Given the description of an element on the screen output the (x, y) to click on. 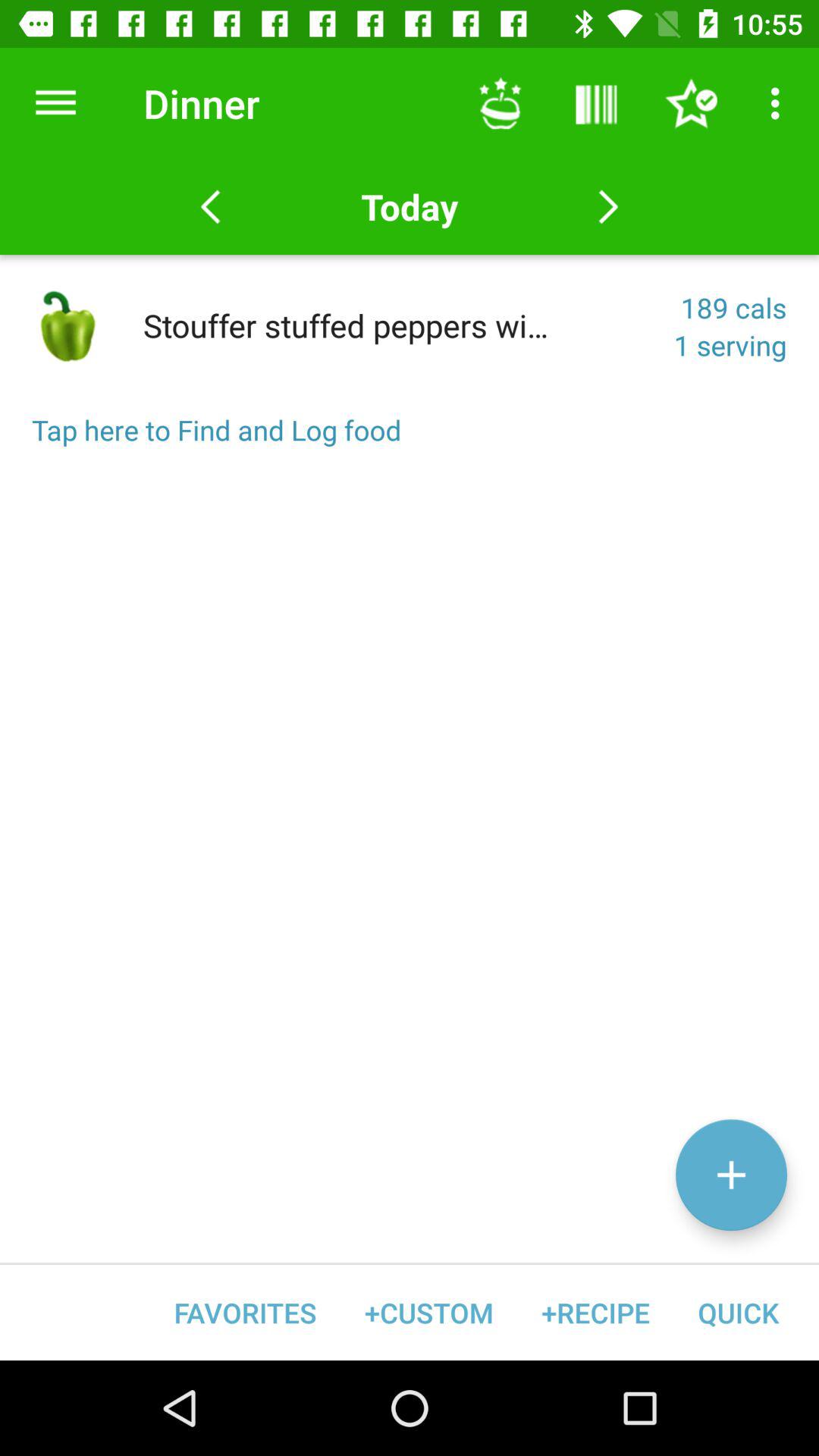
press item above the today icon (500, 103)
